Given the description of an element on the screen output the (x, y) to click on. 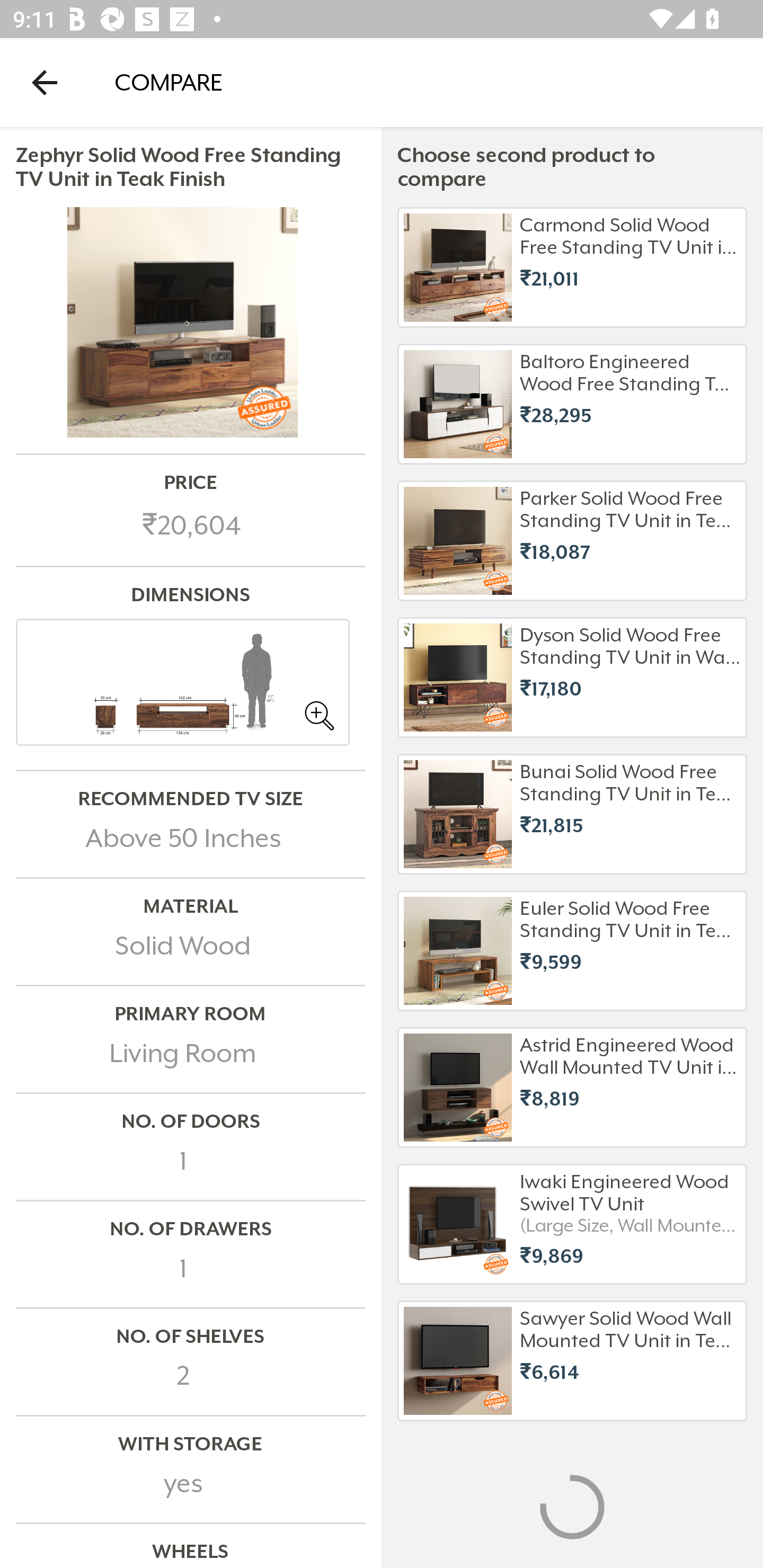
Navigate up (44, 82)
